Given the description of an element on the screen output the (x, y) to click on. 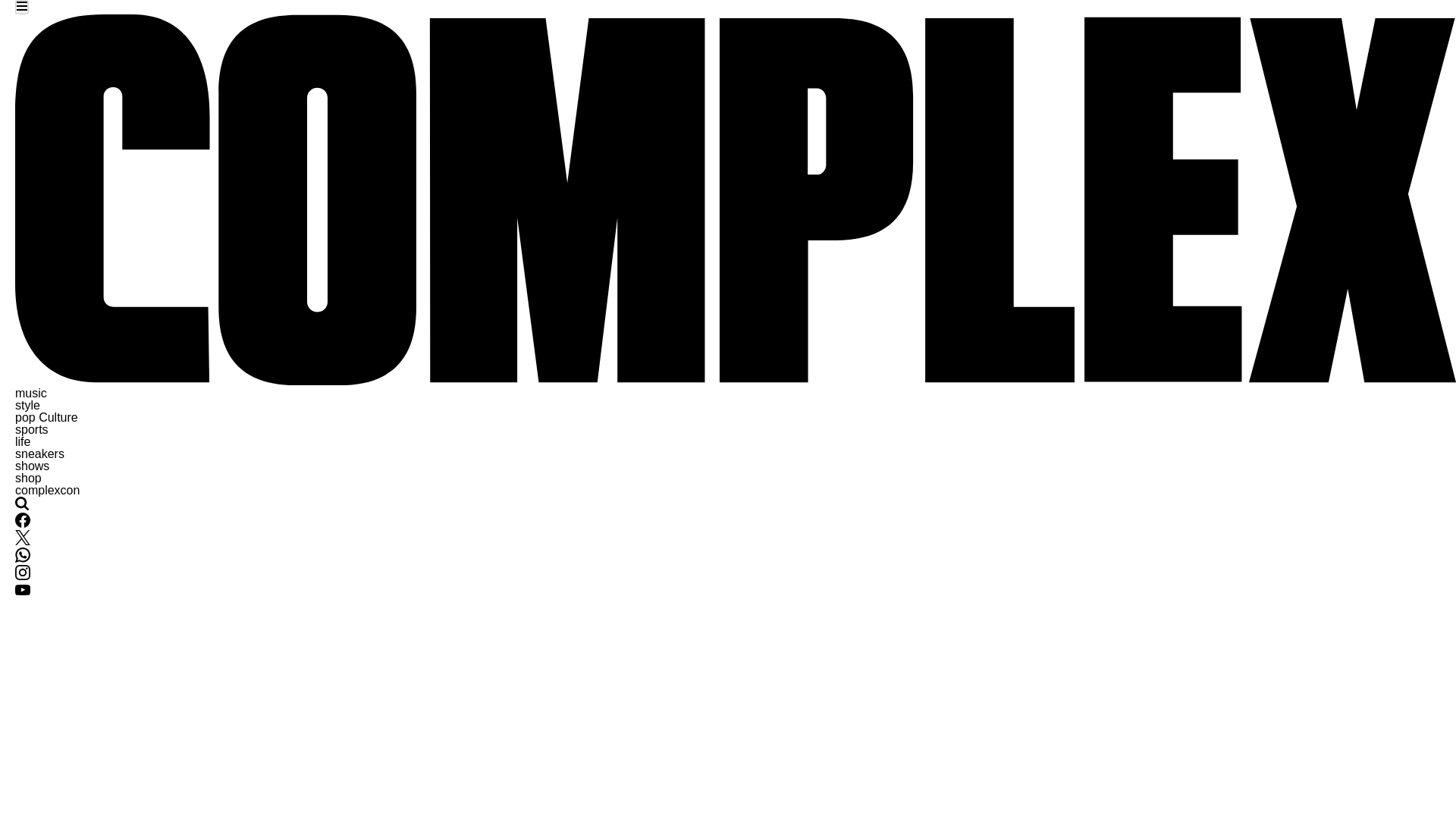
sneakers (39, 453)
Youtube Navigation Icon (22, 593)
Twitter Navigation Icon (22, 540)
Search Icon (21, 503)
pop Culture (46, 417)
Instagram Navigation Icon (22, 572)
sports (31, 429)
complexcon (47, 490)
life (22, 440)
style (27, 404)
Youtube Navigation Icon (22, 589)
shows (31, 465)
Twitter Navigation Icon (22, 537)
WhatsApp icon (22, 554)
Facebook Navigation Icon (22, 522)
